Given the description of an element on the screen output the (x, y) to click on. 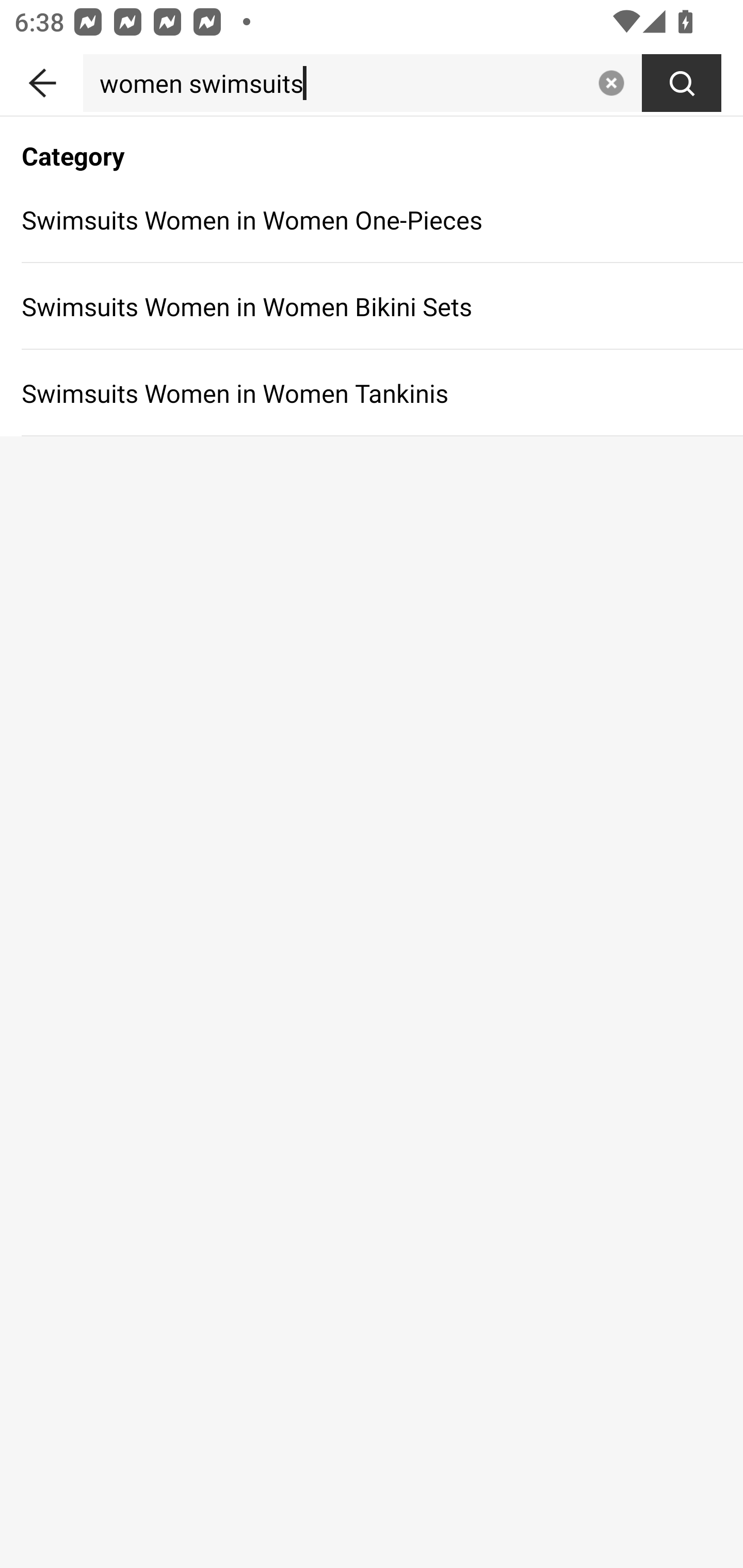
BACK (41, 79)
women swimsuits (336, 82)
Clear (610, 82)
Category (371, 145)
Swimsuits Women in Women One-Pieces (371, 219)
Swimsuits Women in Women Bikini Sets (371, 306)
Swimsuits Women in Women Tankinis (371, 392)
